Given the description of an element on the screen output the (x, y) to click on. 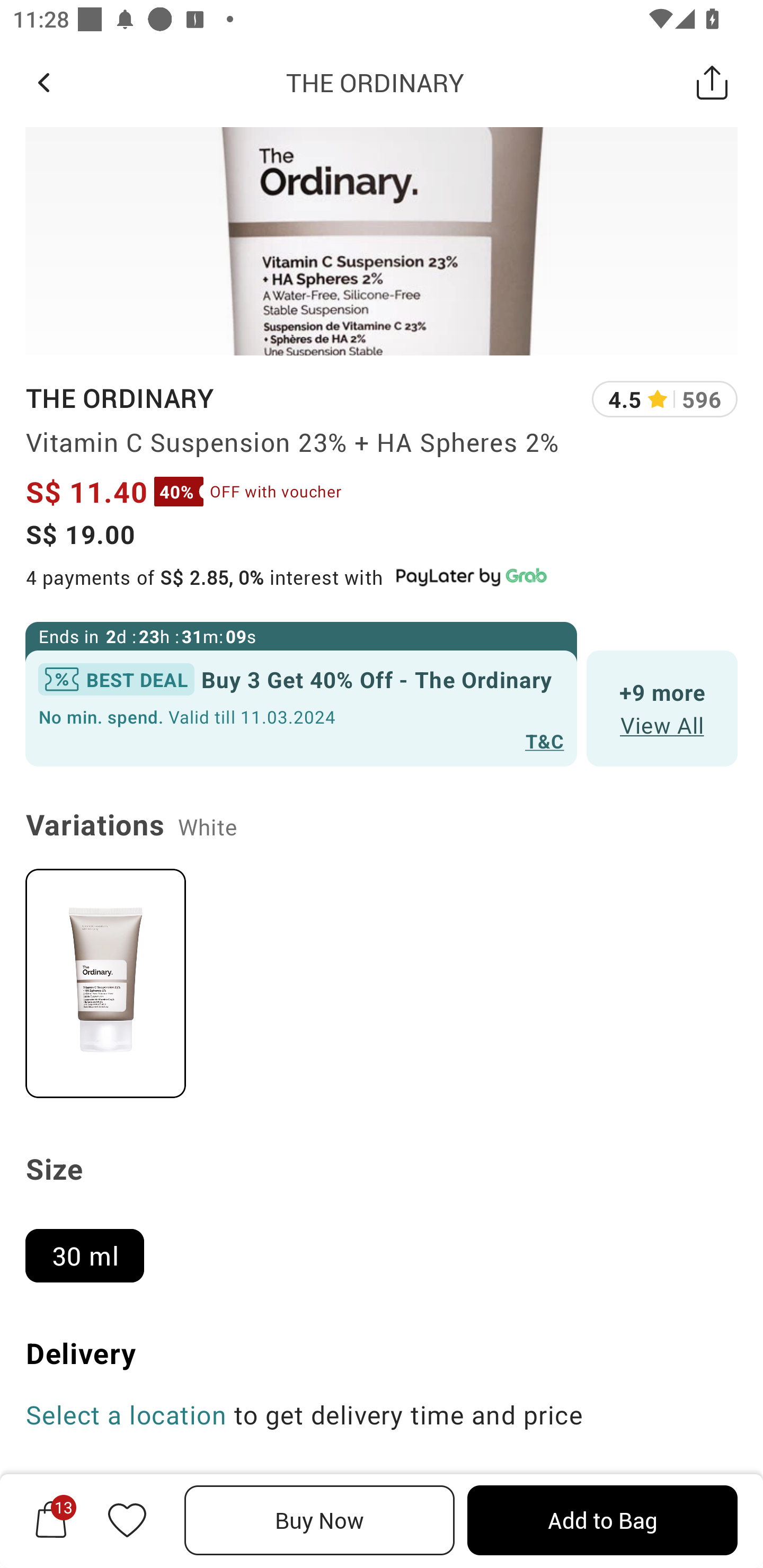
THE ORDINARY (375, 82)
Share this Product (711, 82)
THE ORDINARY (119, 398)
4.5 596 (664, 399)
+9 more
View All (661, 708)
T&C (544, 740)
30 ml (92, 1246)
Buy Now (319, 1519)
Add to Bag (601, 1519)
13 (50, 1520)
